Given the description of an element on the screen output the (x, y) to click on. 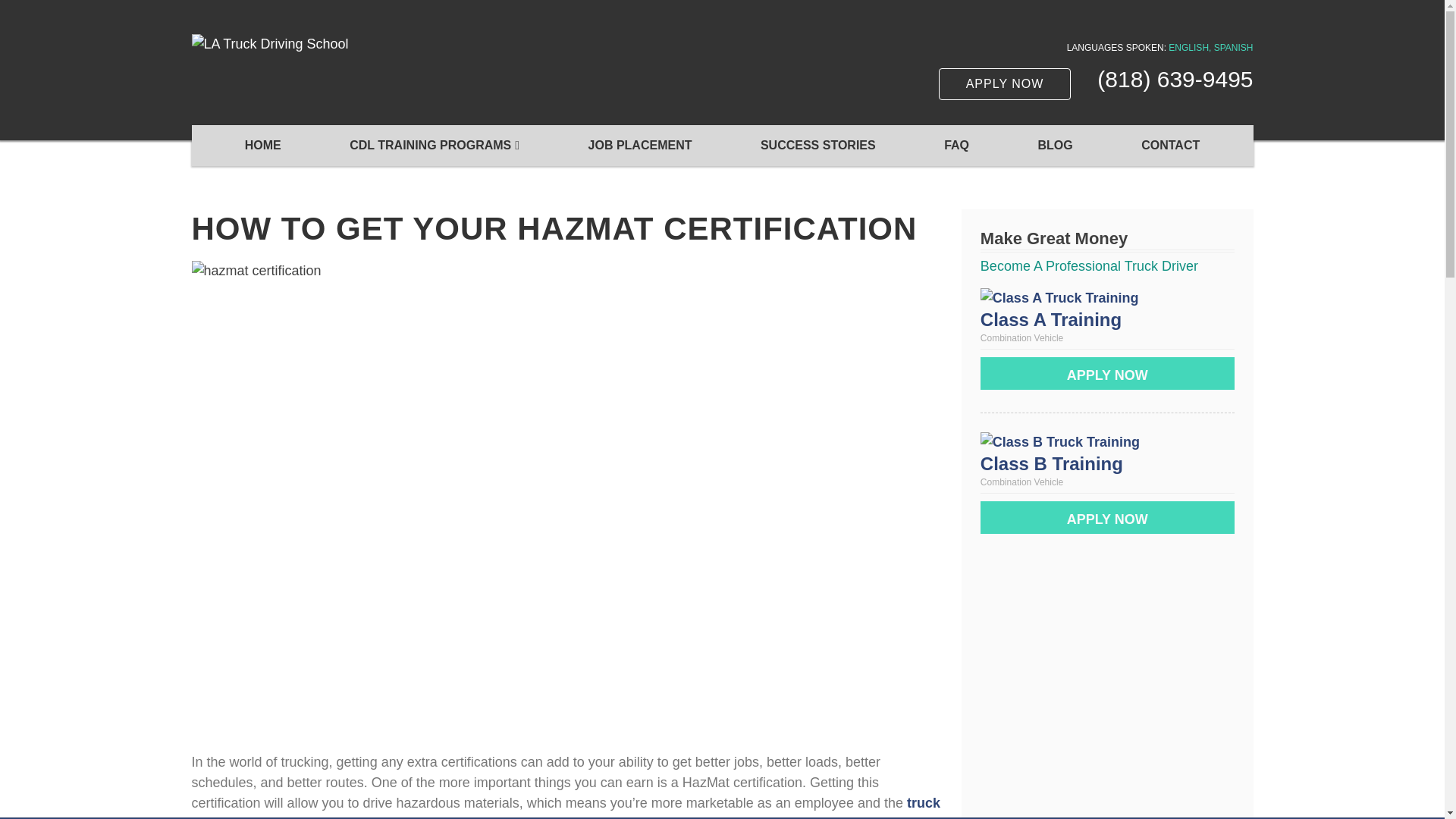
FAQ (956, 145)
APPLY NOW (1106, 517)
Class A Training (1050, 319)
APPLY NOW (1106, 373)
APPLY NOW (1106, 517)
Class A Driving School (1050, 319)
Class A Driving School (1058, 297)
CDL TRAINING PROGRAMS (434, 145)
APPLY NOW (1005, 83)
Class B Training (1050, 463)
